Given the description of an element on the screen output the (x, y) to click on. 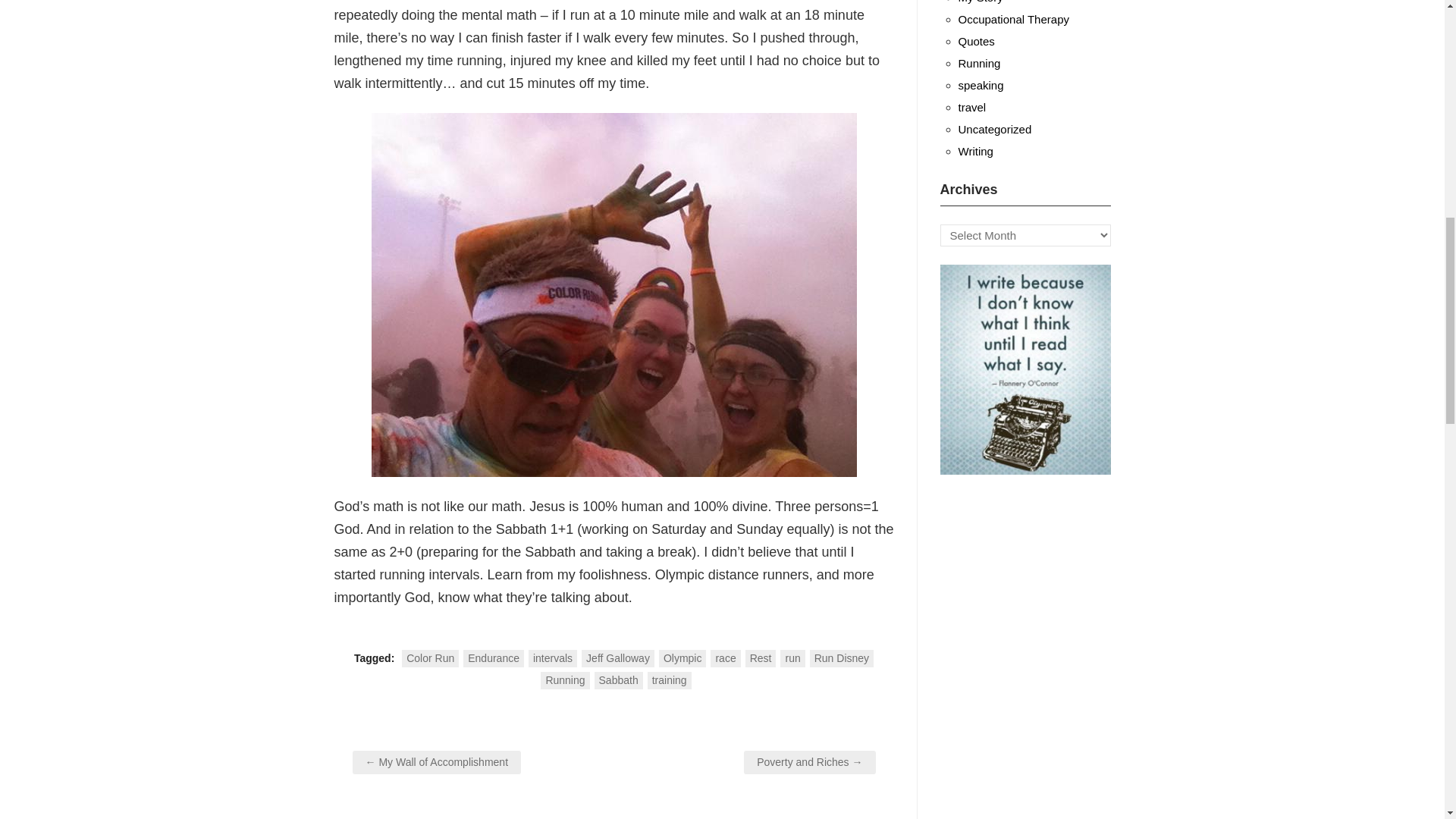
Sabbath (618, 680)
Running (564, 680)
training (669, 680)
Rest (760, 658)
Jeff Galloway (616, 658)
Occupational Therapy (1013, 19)
run (792, 658)
intervals (552, 658)
speaking (981, 84)
Color Run (429, 658)
Run Disney (841, 658)
Quotes (976, 41)
Running (979, 62)
Endurance (493, 658)
My Story (980, 2)
